Given the description of an element on the screen output the (x, y) to click on. 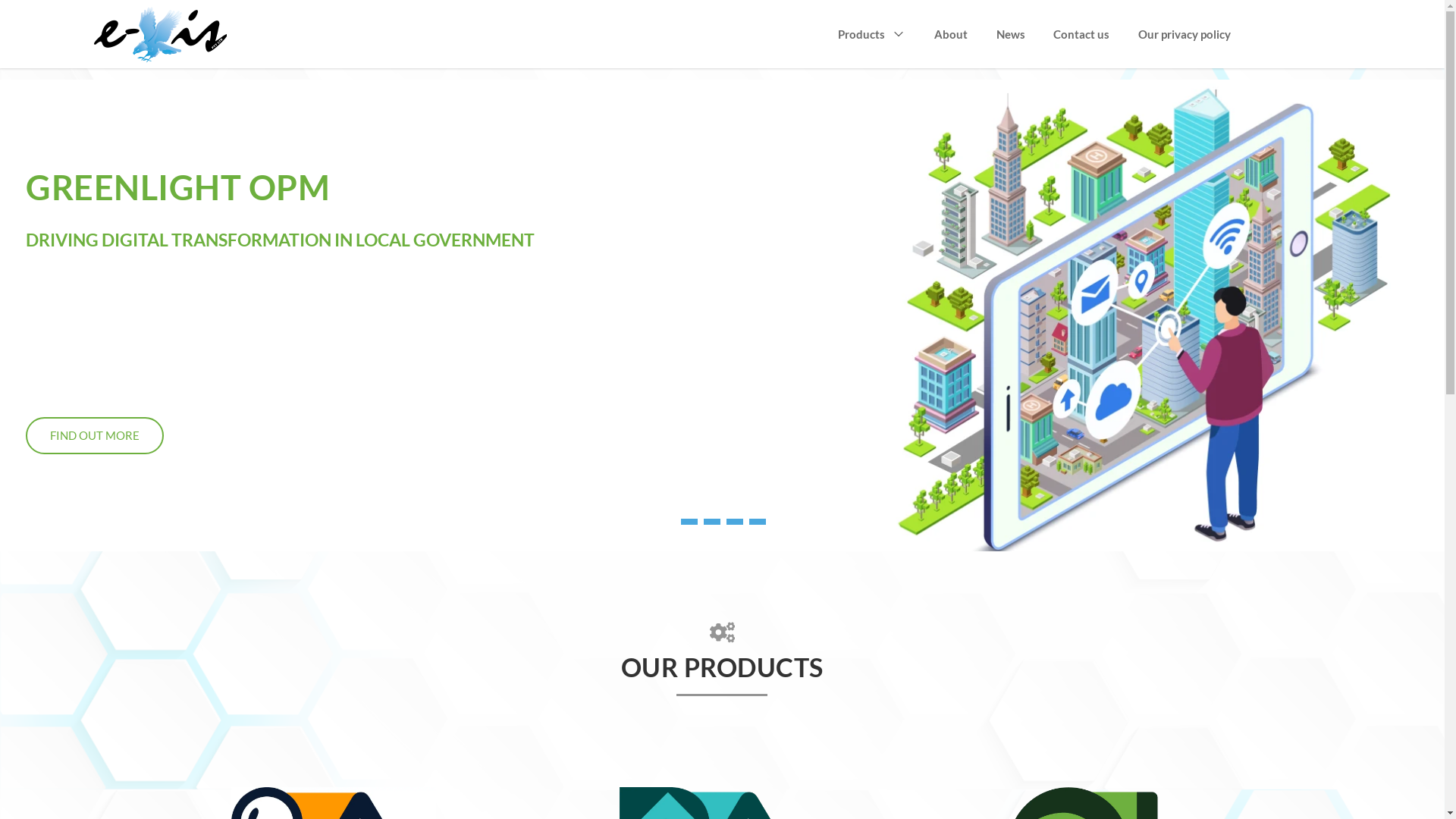
FIND OUT MORE Element type: text (94, 435)
About Element type: text (950, 34)
Contact us Element type: text (1081, 34)
Our privacy policy Element type: text (1184, 34)
News Element type: text (1010, 34)
